Given the description of an element on the screen output the (x, y) to click on. 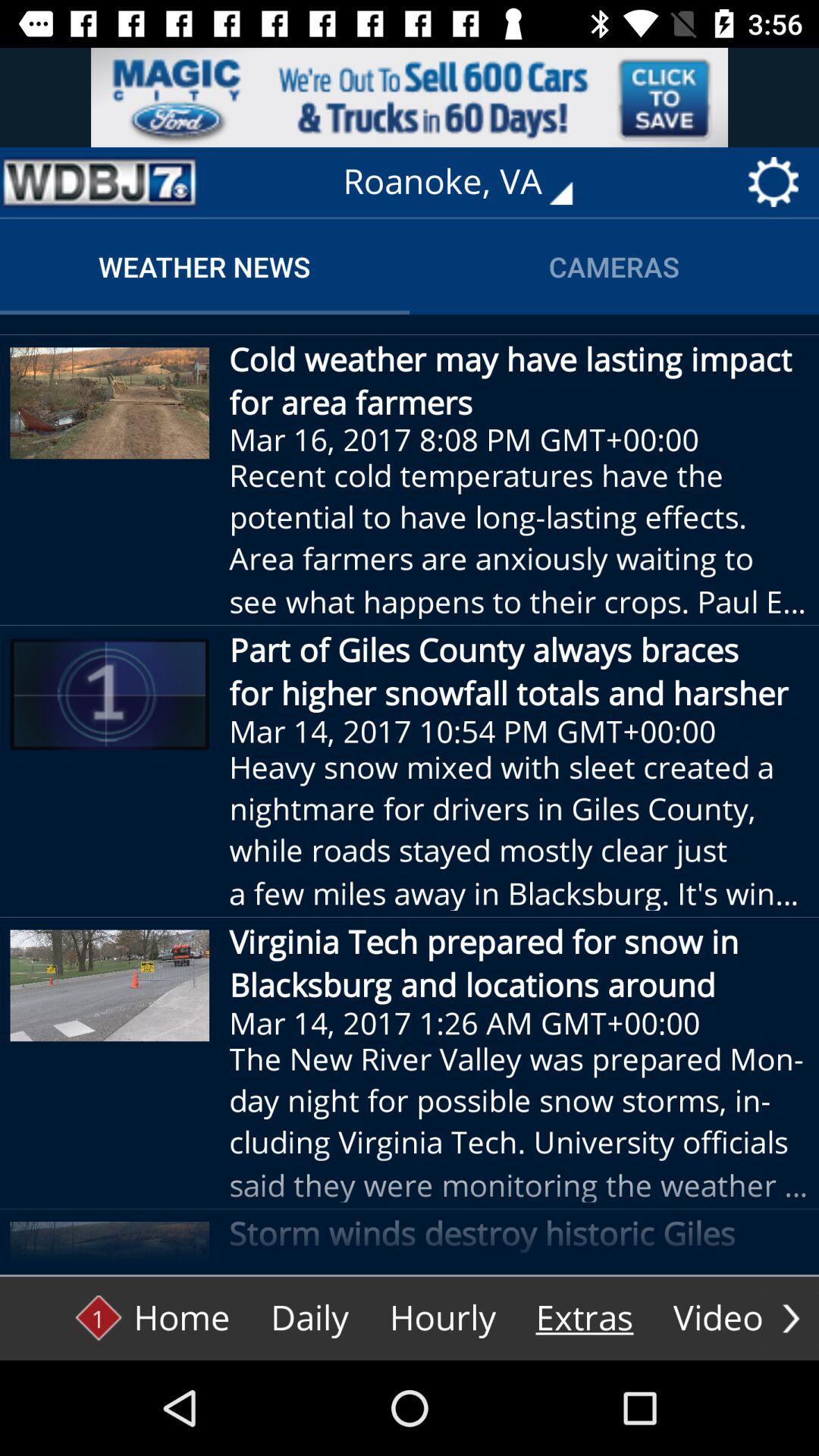
select the advertisement (409, 97)
